Given the description of an element on the screen output the (x, y) to click on. 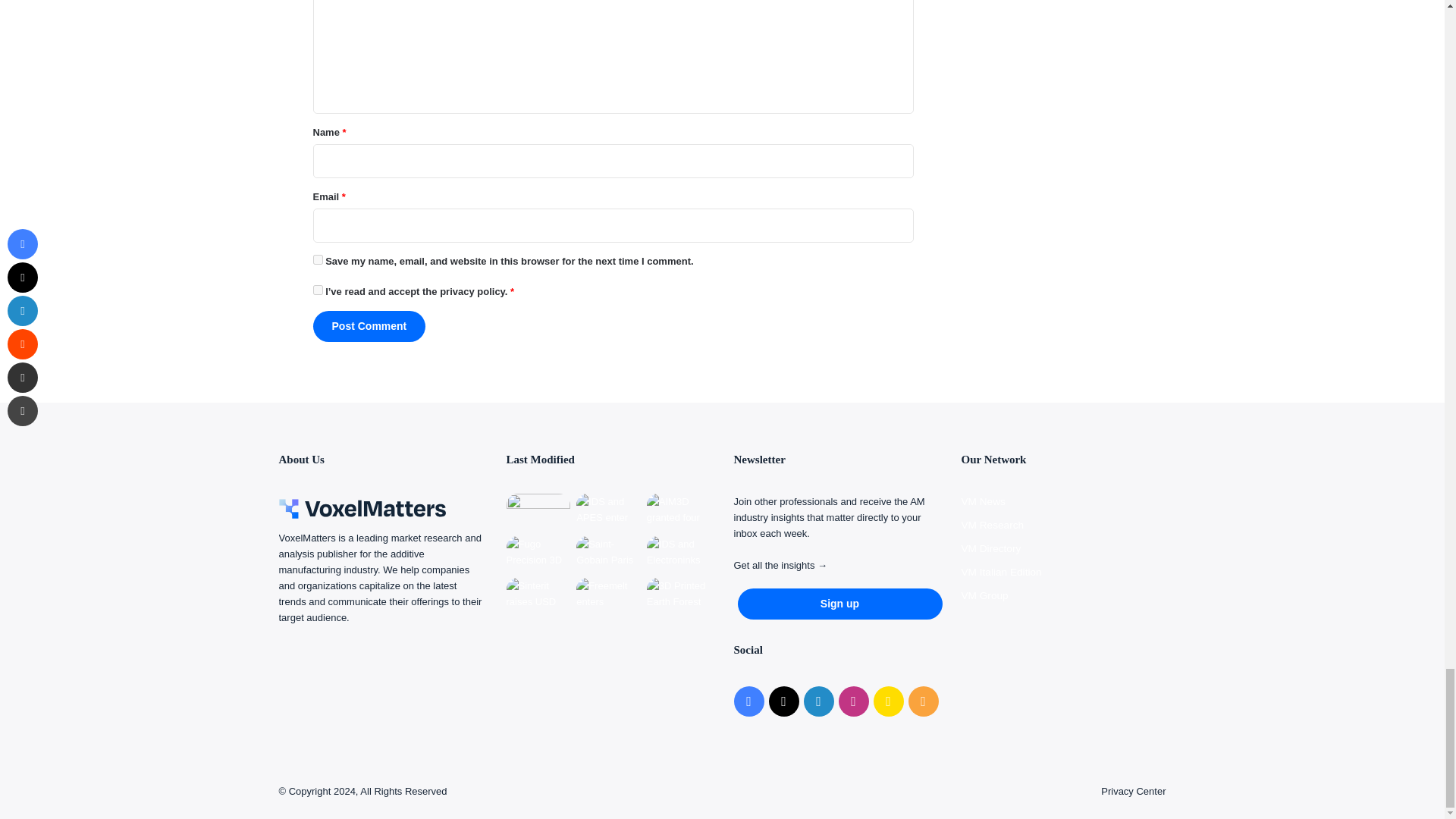
Sign up (839, 603)
Post Comment (369, 326)
yes (317, 259)
on (317, 289)
